Given the description of an element on the screen output the (x, y) to click on. 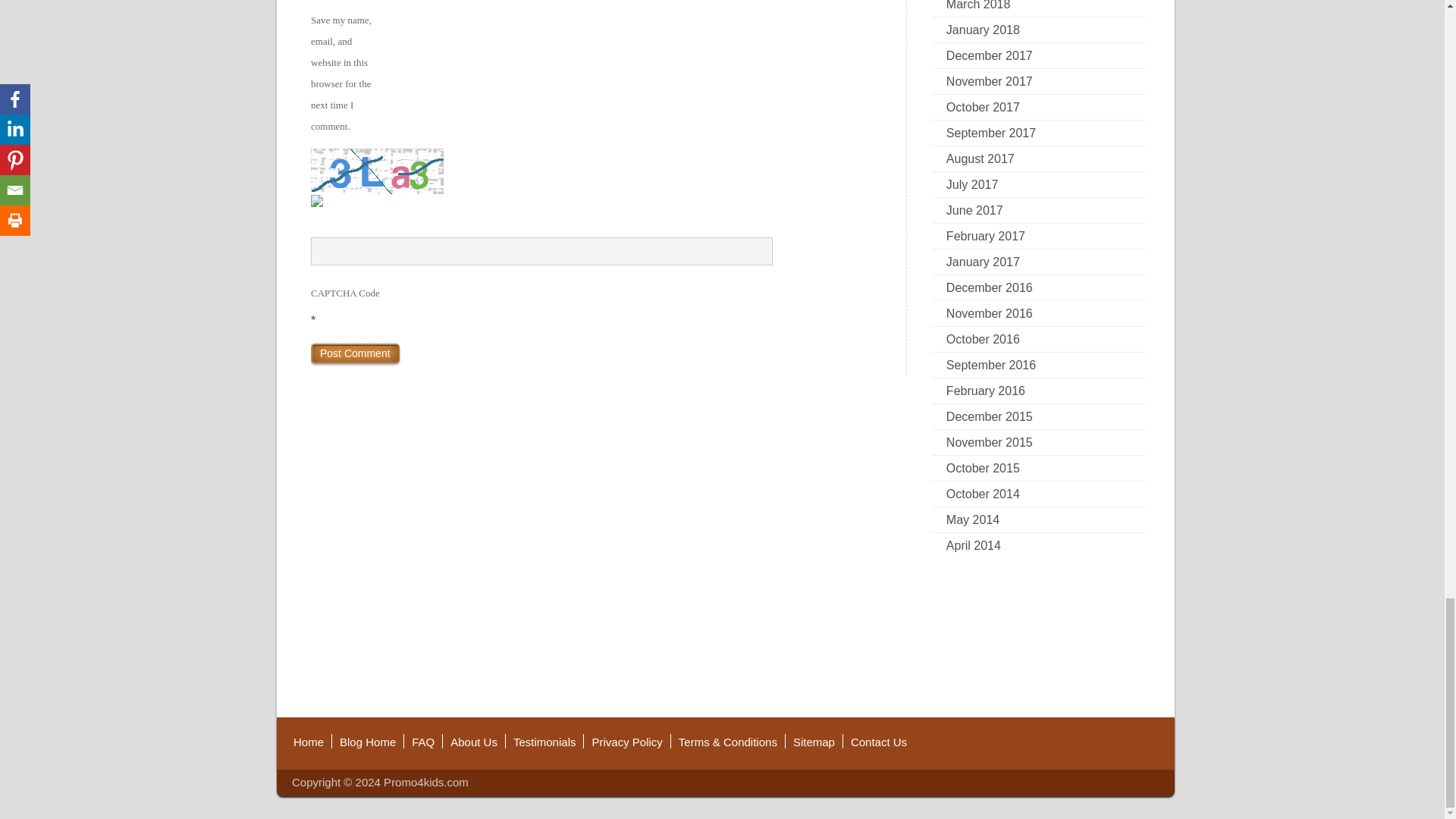
Post Comment (354, 353)
Post Comment (354, 353)
CAPTCHA Image (377, 171)
